Given the description of an element on the screen output the (x, y) to click on. 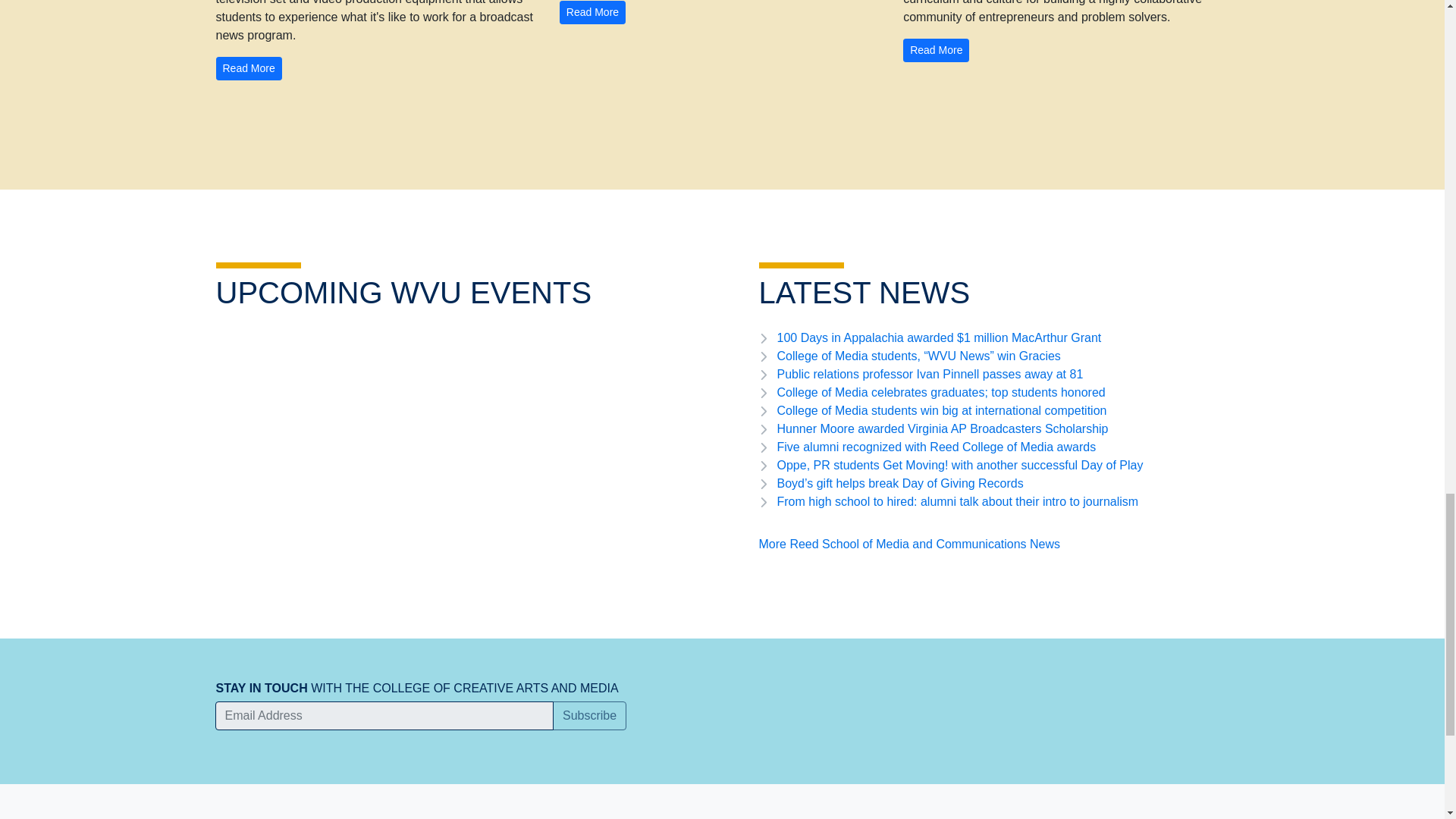
Subscribe (589, 715)
